Given the description of an element on the screen output the (x, y) to click on. 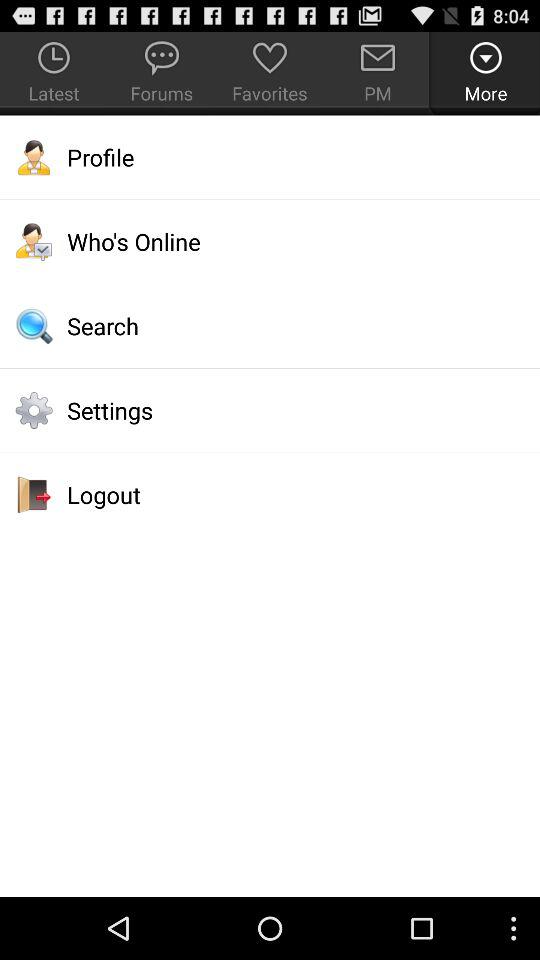
choose the item below the   who's online app (270, 326)
